Given the description of an element on the screen output the (x, y) to click on. 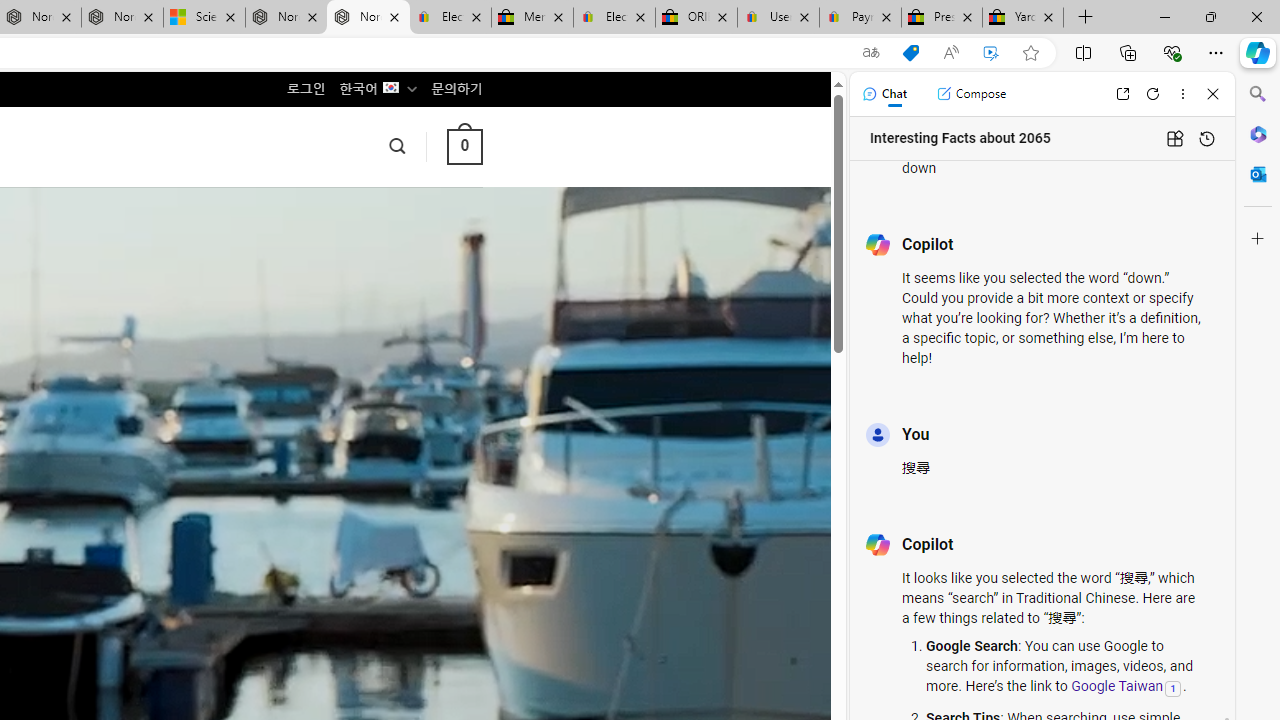
Minimize (1164, 16)
Browser essentials (1171, 52)
Collections (1128, 52)
 0  (464, 146)
Customize (1258, 239)
  0   (464, 146)
Outlook (1258, 174)
Enhance video (991, 53)
Close tab (1048, 16)
Compose (971, 93)
Settings and more (Alt+F) (1215, 52)
Press Room - eBay Inc. (941, 17)
Payments Terms of Use | eBay.com (860, 17)
More options (1182, 93)
